Given the description of an element on the screen output the (x, y) to click on. 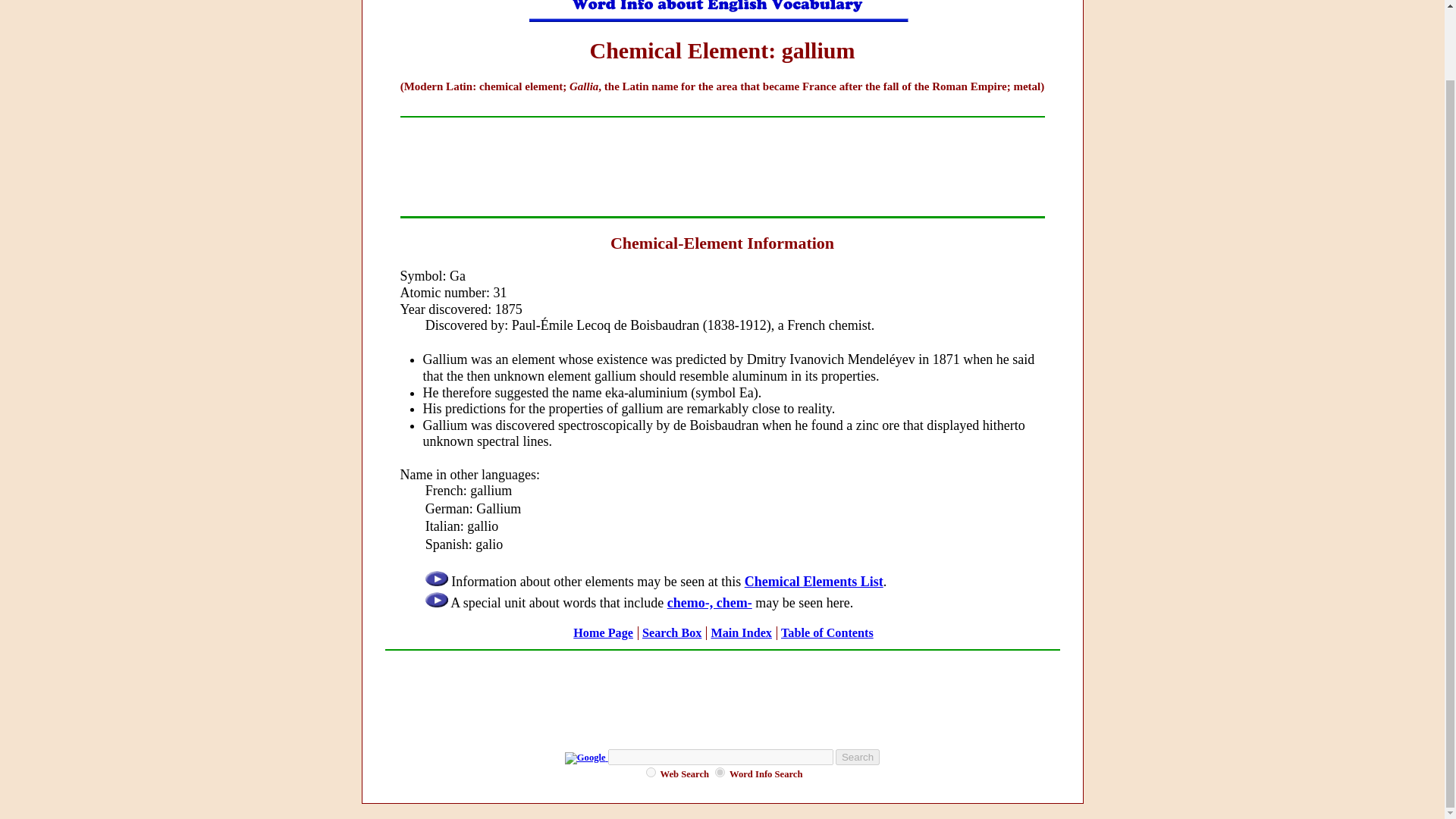
Table of Contents (826, 632)
Main Index (740, 632)
Advertisement (721, 166)
chemo-, chem- (709, 602)
Advertisement (721, 692)
Search (857, 756)
Home Page (603, 632)
Search (857, 756)
Search Box (671, 632)
Chemical Elements List (813, 581)
